Given the description of an element on the screen output the (x, y) to click on. 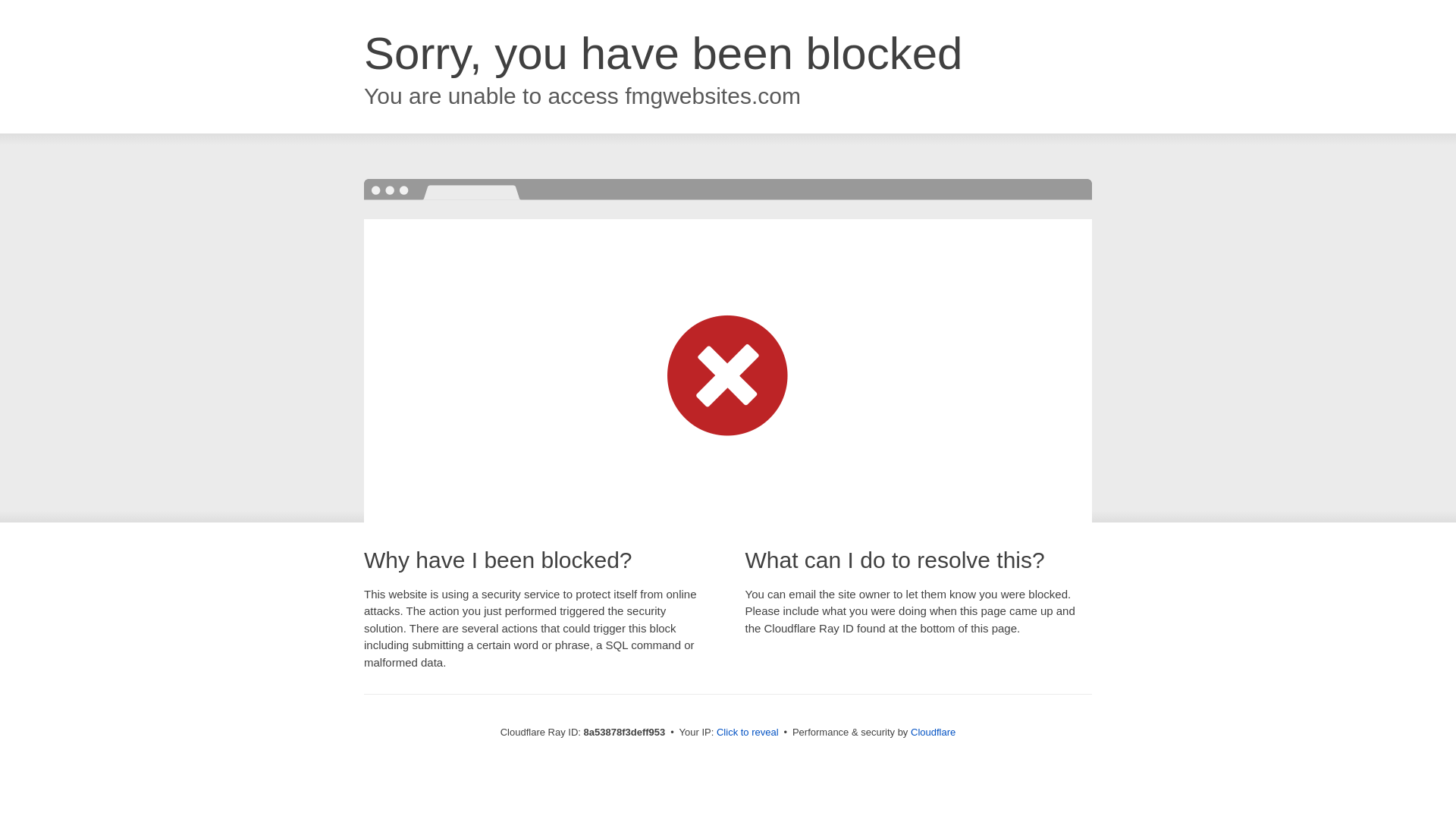
Cloudflare (933, 731)
Click to reveal (747, 732)
